Given the description of an element on the screen output the (x, y) to click on. 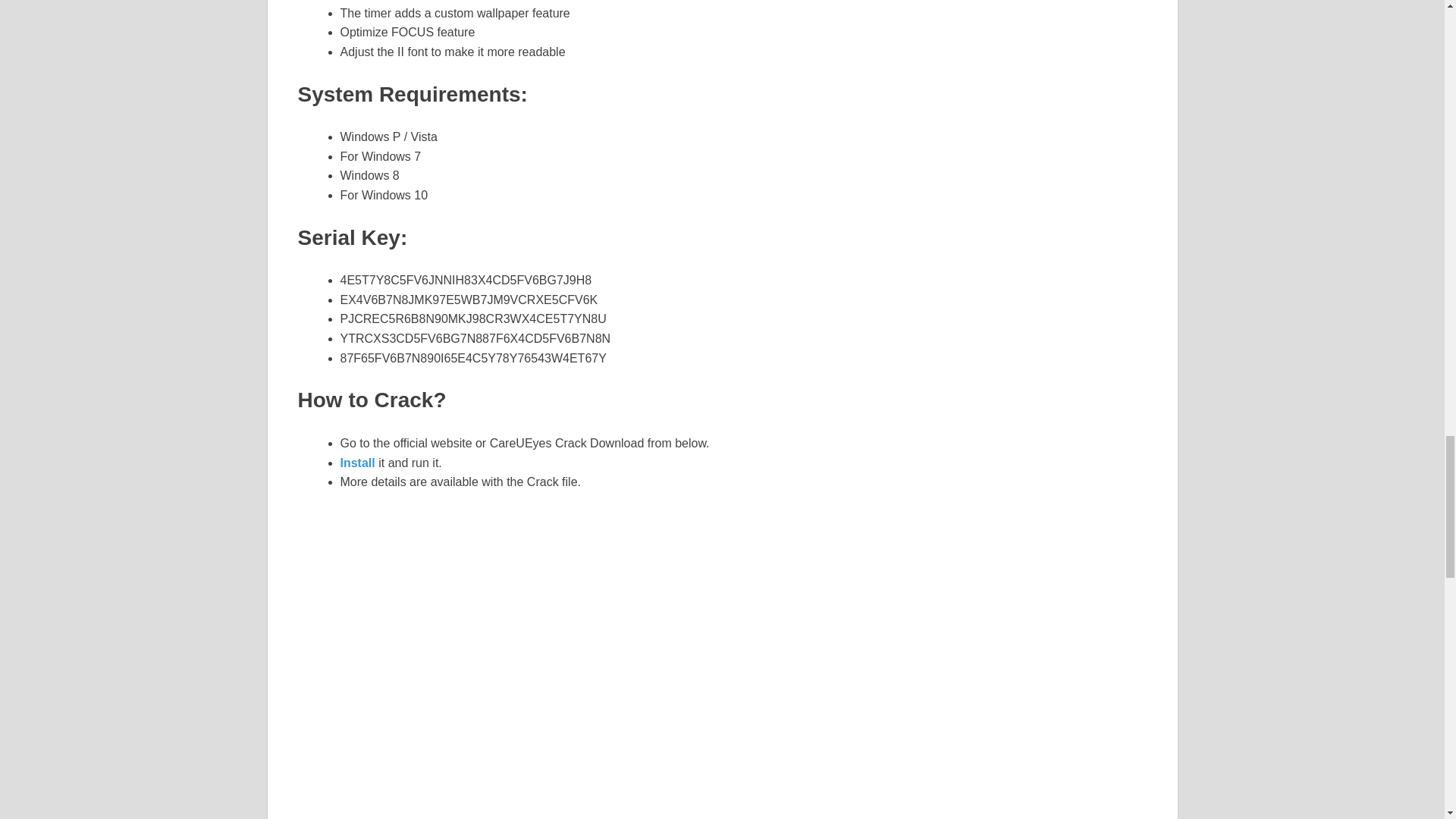
Install (358, 462)
